Given the description of an element on the screen output the (x, y) to click on. 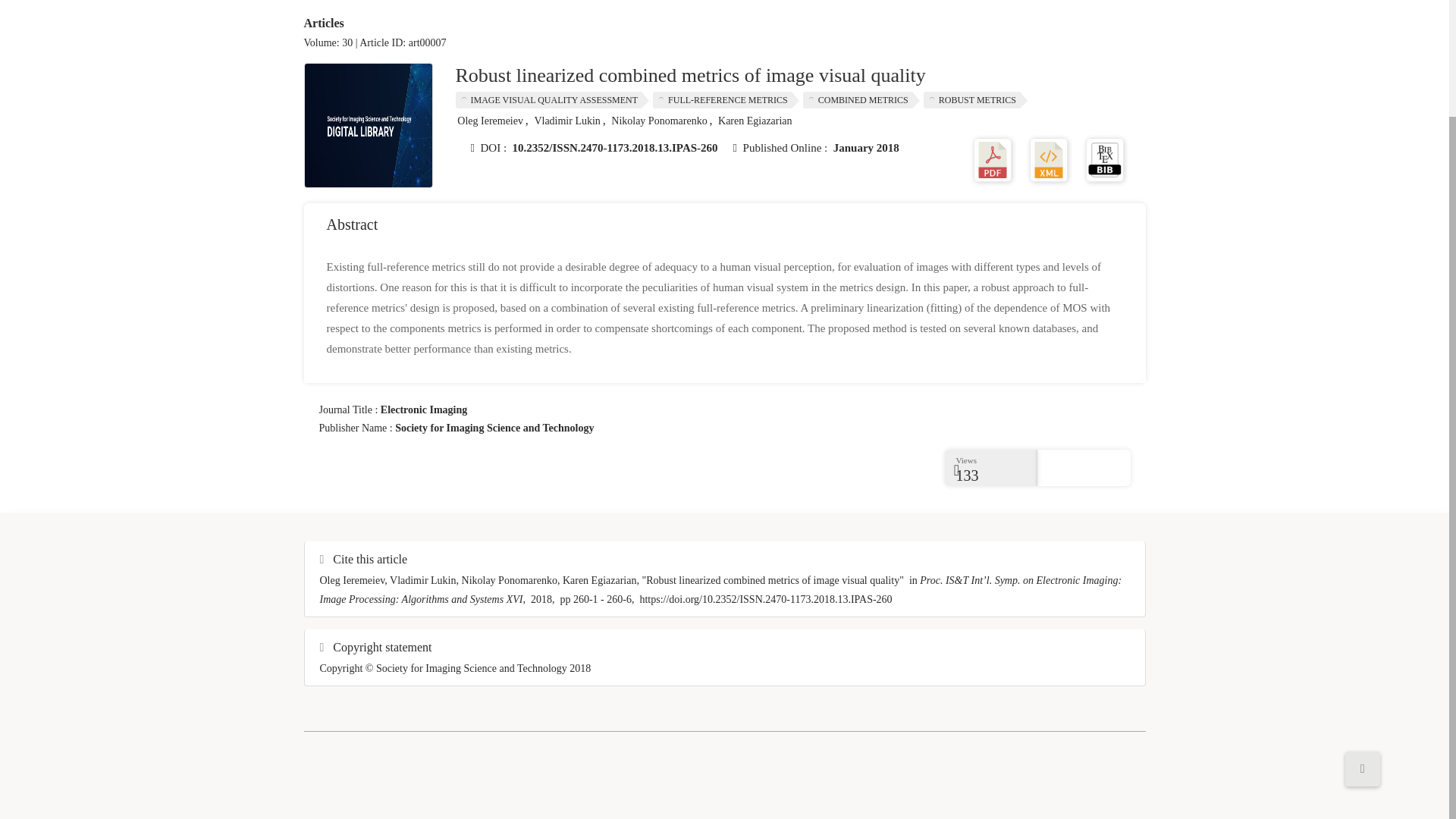
FULL-REFERENCE METRICS (725, 99)
ROBUST METRICS (975, 99)
COMBINED METRICS (861, 99)
Download XML (1048, 158)
Download PDF (992, 158)
No article cover image (368, 125)
IMAGE VISUAL QUALITY ASSESSMENT (551, 99)
Download BibTeX (1105, 158)
